Given the description of an element on the screen output the (x, y) to click on. 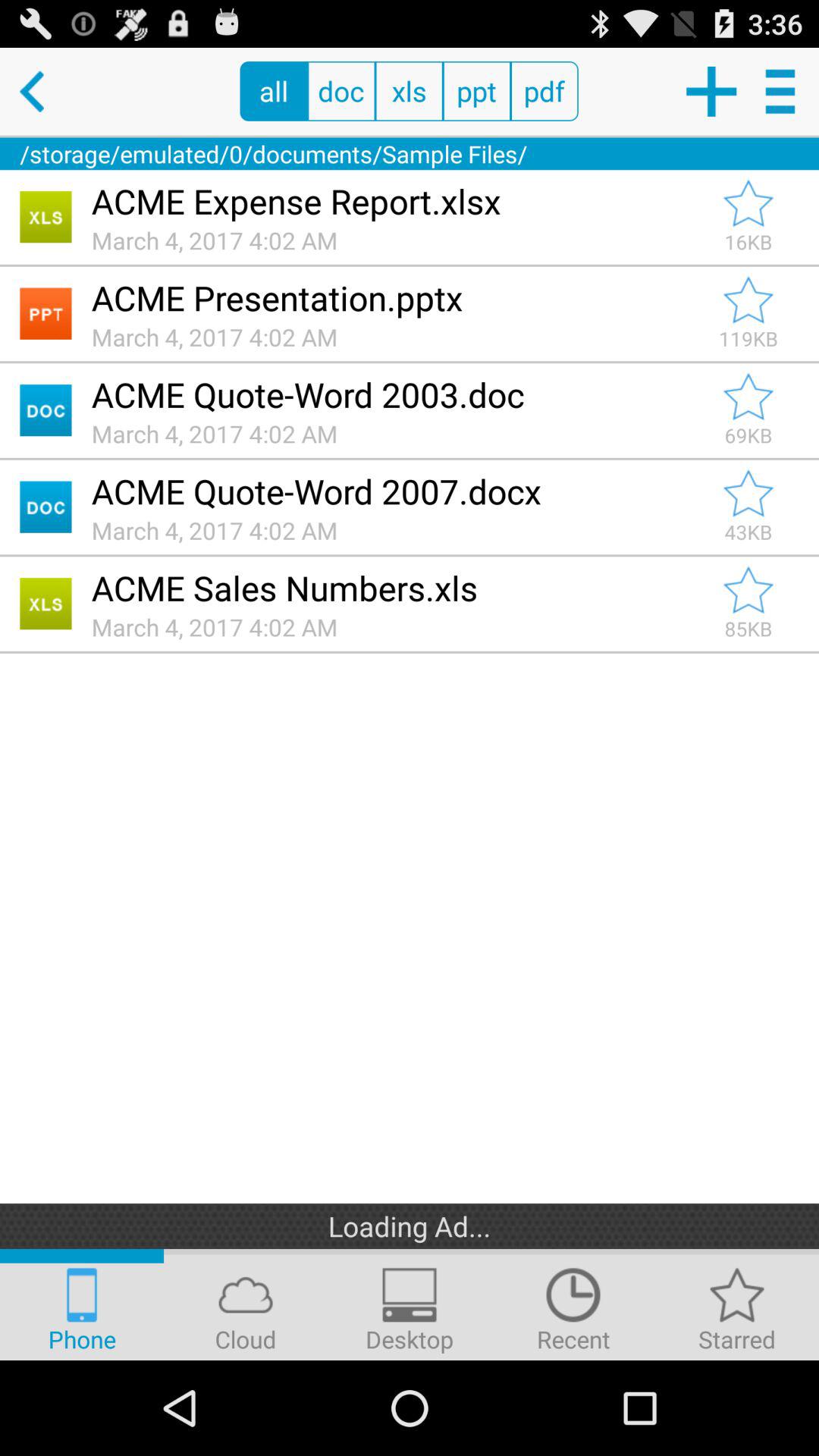
flip until pdf item (544, 91)
